Given the description of an element on the screen output the (x, y) to click on. 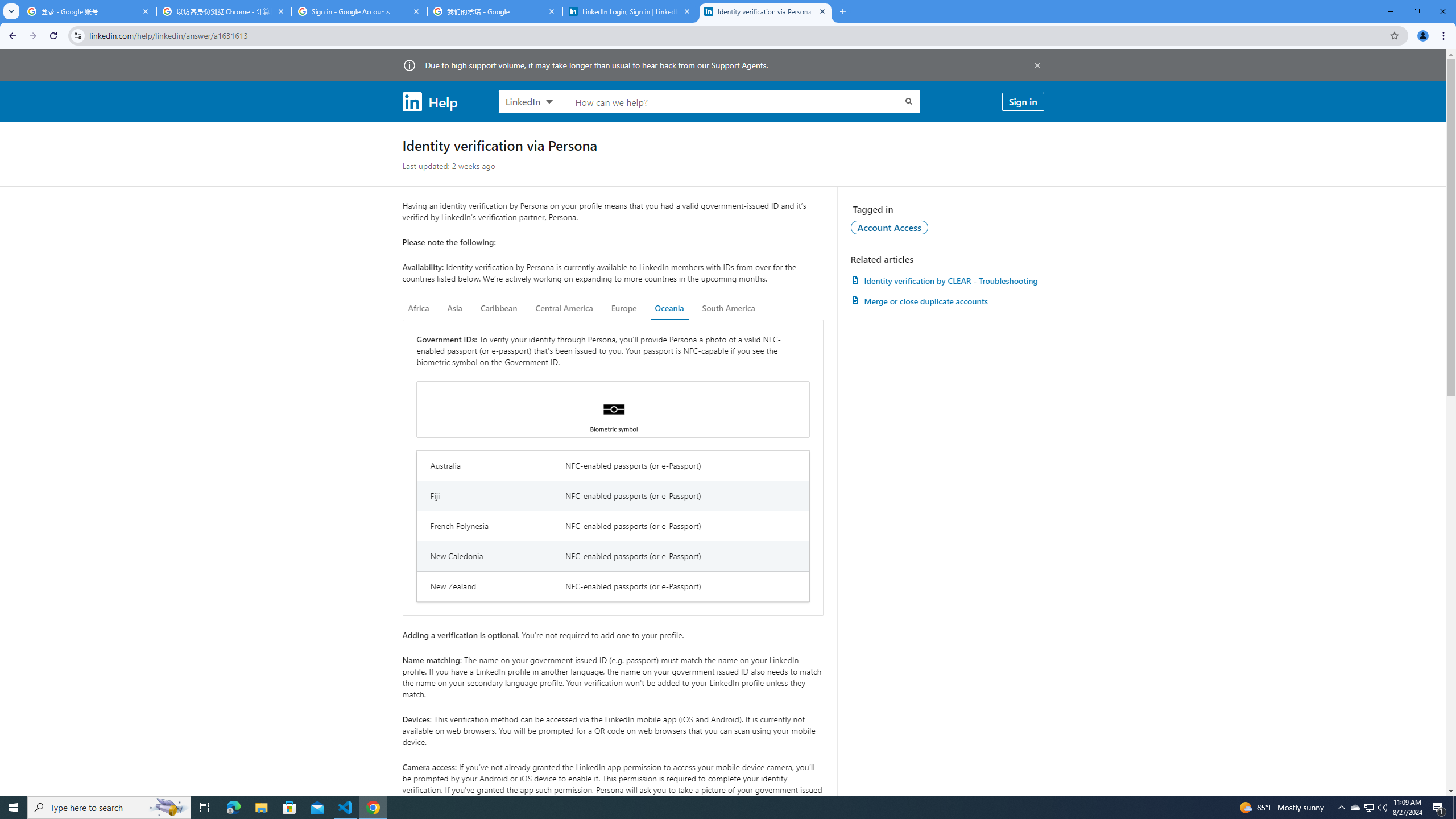
AutomationID: article-link-a1337200 (946, 300)
LinkedIn Login, Sign in | LinkedIn (630, 11)
Europe (623, 308)
Sign in - Google Accounts (359, 11)
